Given the description of an element on the screen output the (x, y) to click on. 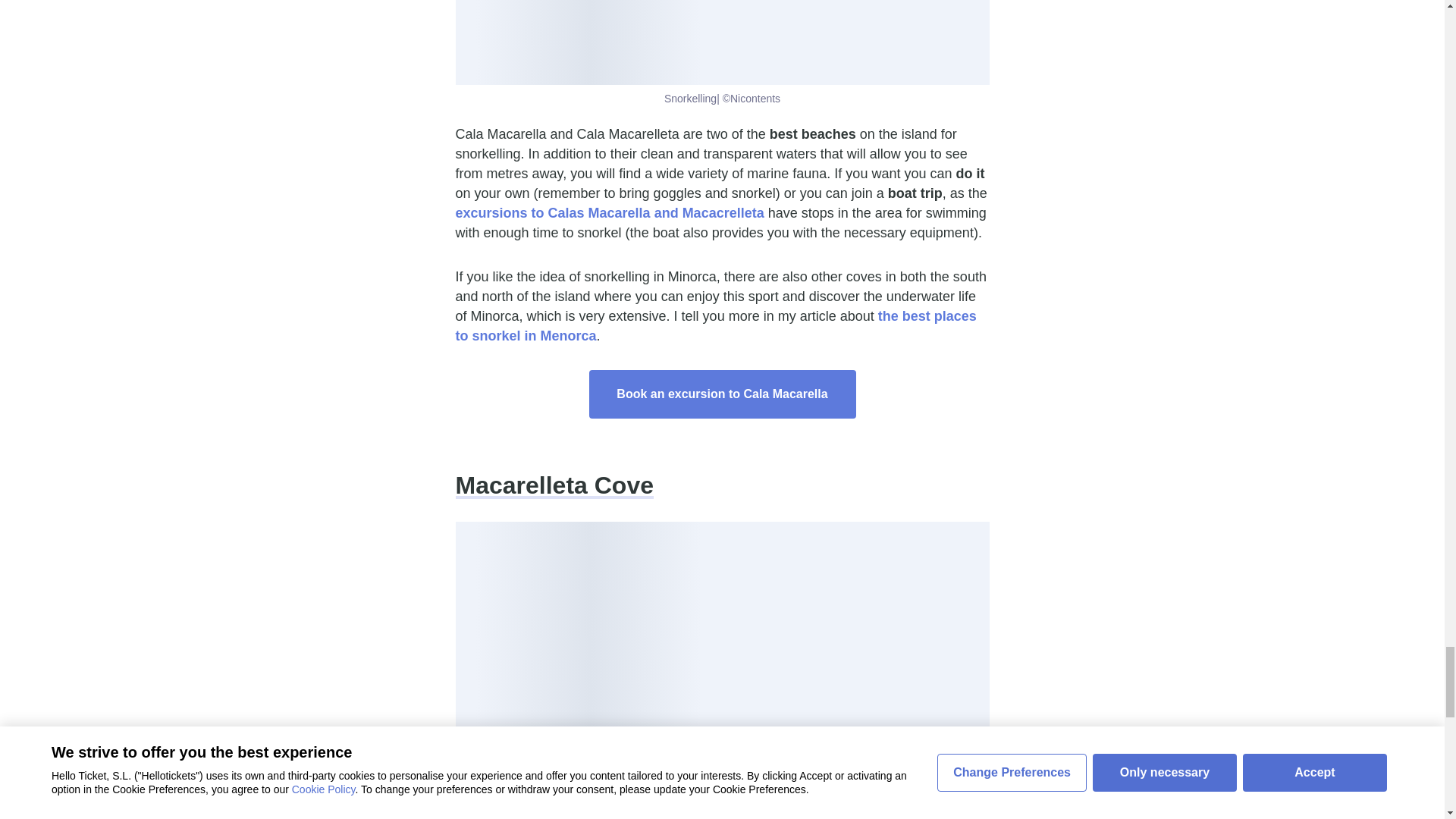
excursions to Calas Macarella and Macacrelleta (608, 212)
the best places to snorkel in Menorca (714, 325)
Book an excursion to Cala Macarella (722, 394)
